Given the description of an element on the screen output the (x, y) to click on. 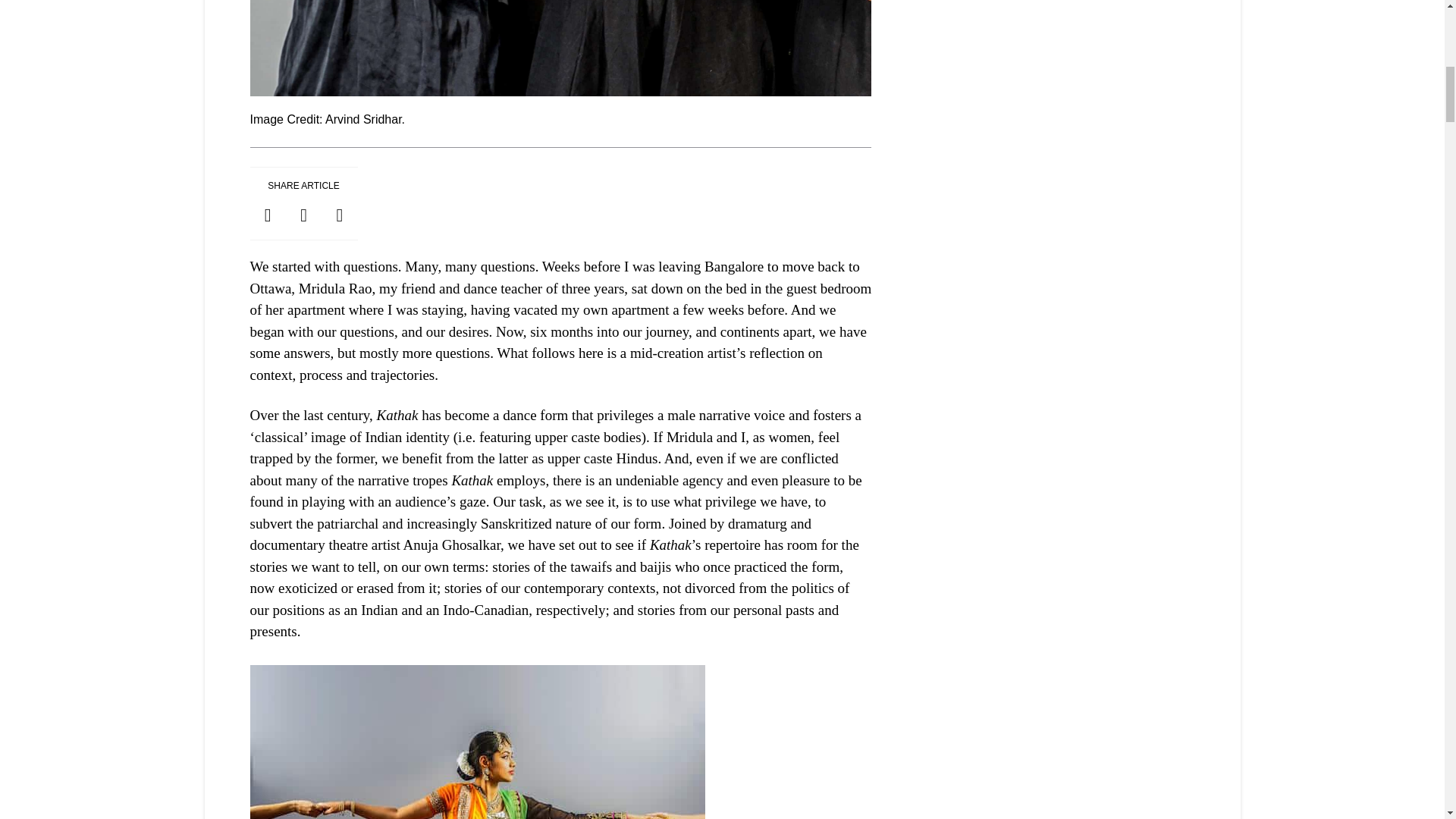
Share on X (303, 214)
Share on Facebook (267, 214)
Share via Email (338, 214)
